Given the description of an element on the screen output the (x, y) to click on. 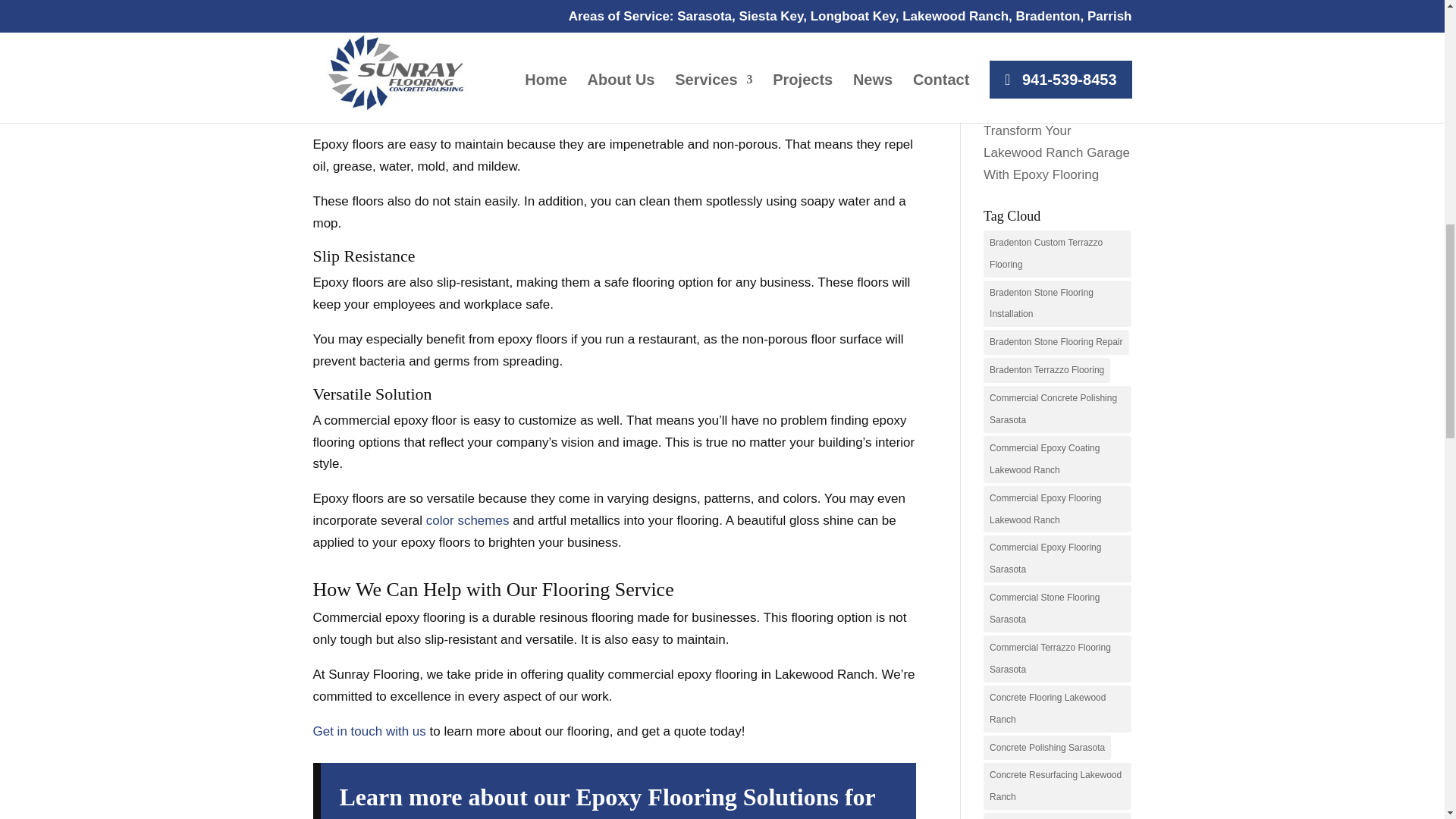
color schemes (467, 520)
Transform Your Lakewood Ranch Garage With Epoxy Flooring (1056, 152)
Bradenton Stone Flooring Repair (1056, 342)
Get in touch with us (369, 730)
Commercial Epoxy Coating Lakewood Ranch (1057, 459)
Bradenton Terrazzo Flooring (1046, 370)
Protect Your Lakewood Ranch Floors With Epoxy Floor Coating (1056, 18)
Commercial Concrete Polishing Sarasota (1057, 409)
Commercial Epoxy Flooring Lakewood Ranch (1057, 509)
Bradenton Stone Flooring Installation (1057, 303)
Bradenton Custom Terrazzo Flooring (1057, 253)
